Given the description of an element on the screen output the (x, y) to click on. 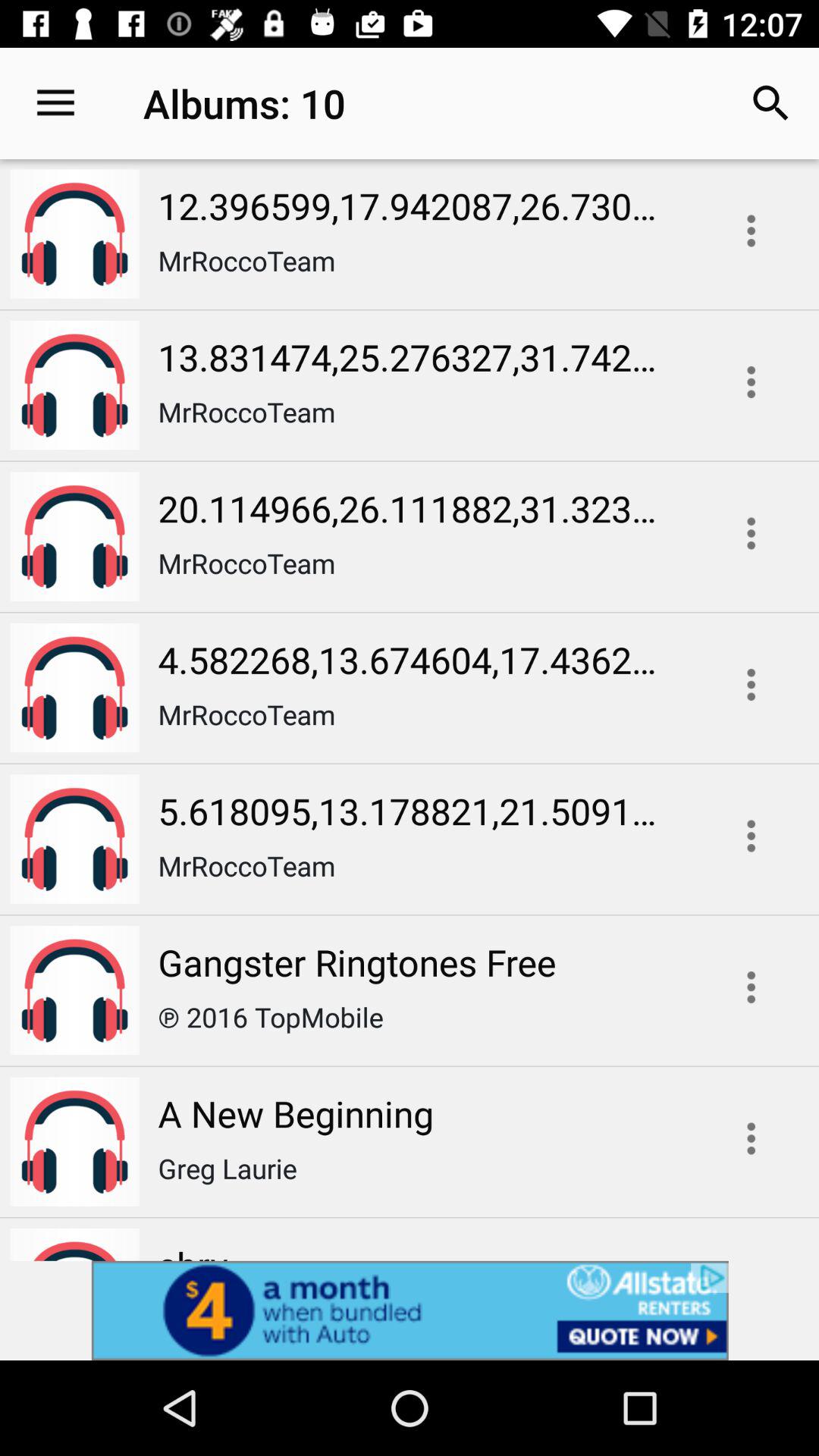
more options (750, 1138)
